Given the description of an element on the screen output the (x, y) to click on. 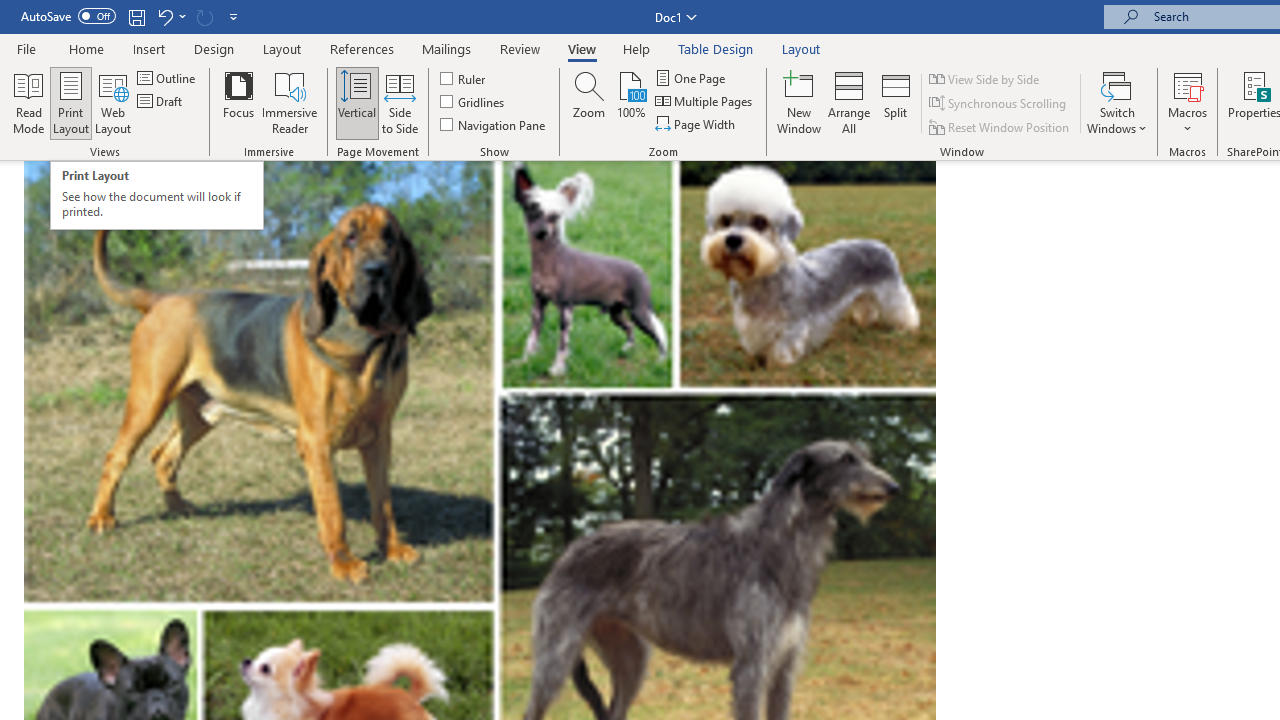
Outline (168, 78)
Synchronous Scrolling (998, 103)
One Page (691, 78)
